Given the description of an element on the screen output the (x, y) to click on. 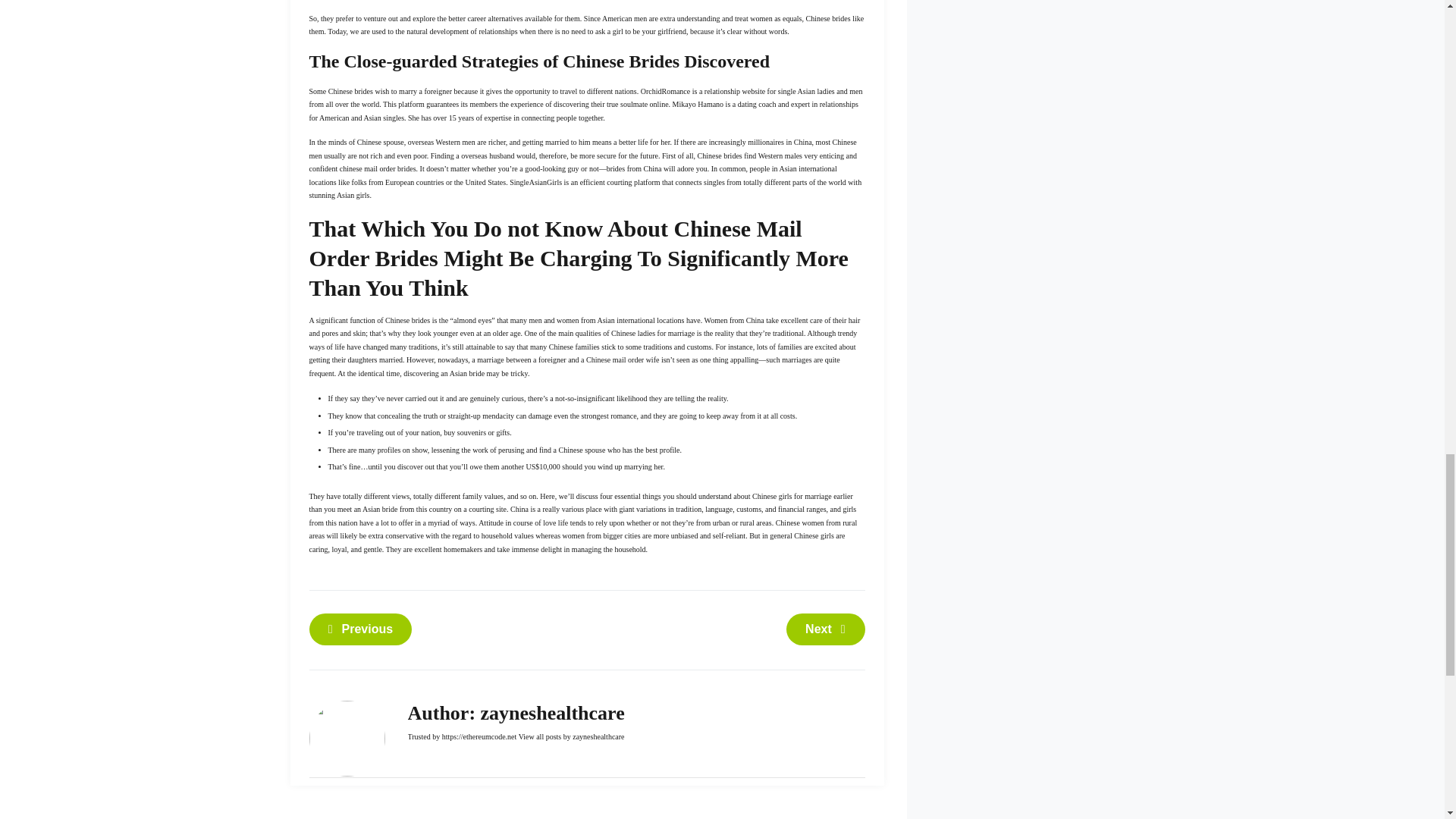
View all posts by zayneshealthcare (571, 736)
Ile Zarabiacie Na Forex (825, 629)
Previous (360, 629)
Next (825, 629)
chinese mail order brides (377, 168)
